Given the description of an element on the screen output the (x, y) to click on. 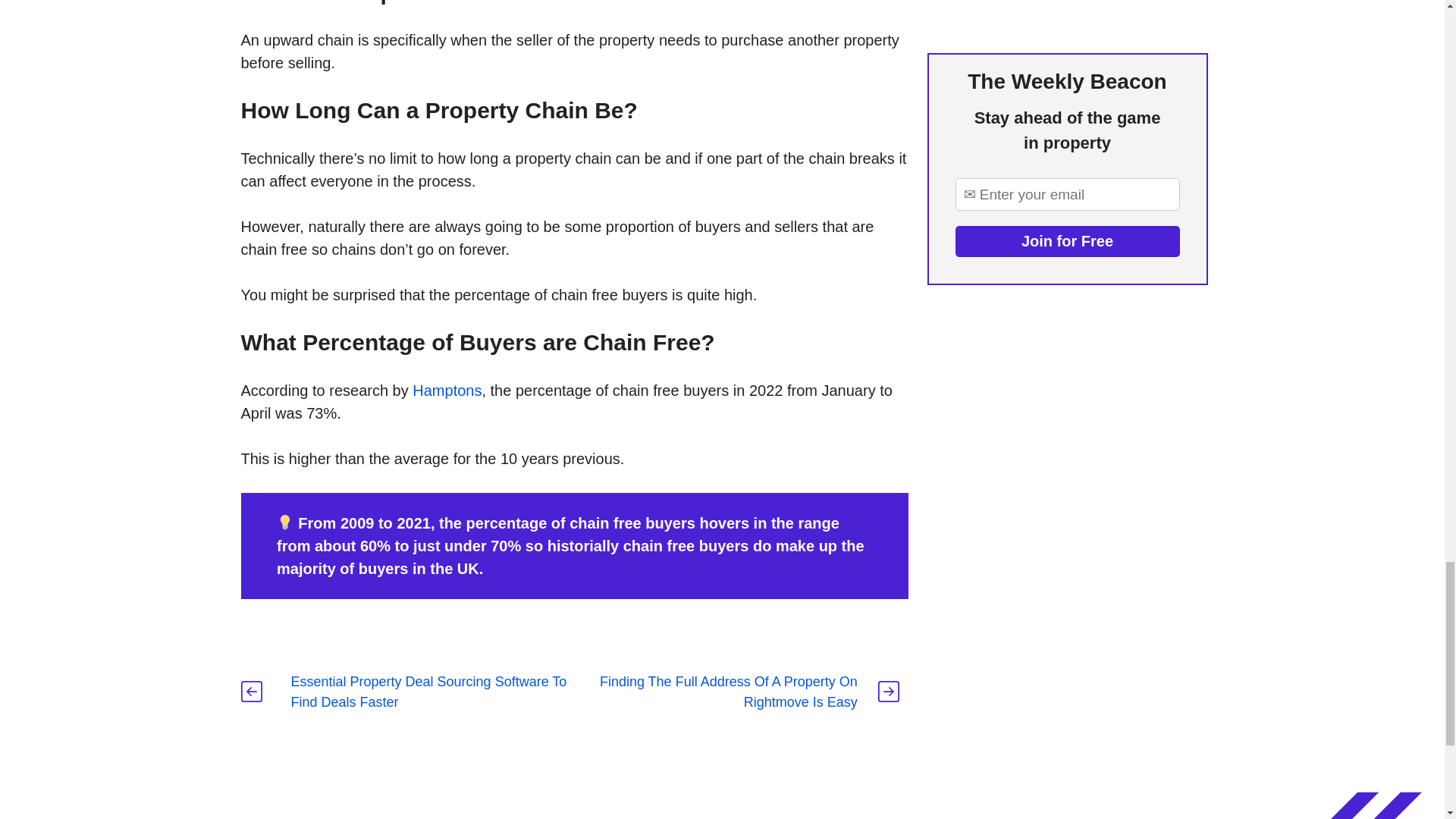
Hamptons (446, 390)
Finding The Full Address Of A Property On Rightmove Is Easy (728, 692)
